Given the description of an element on the screen output the (x, y) to click on. 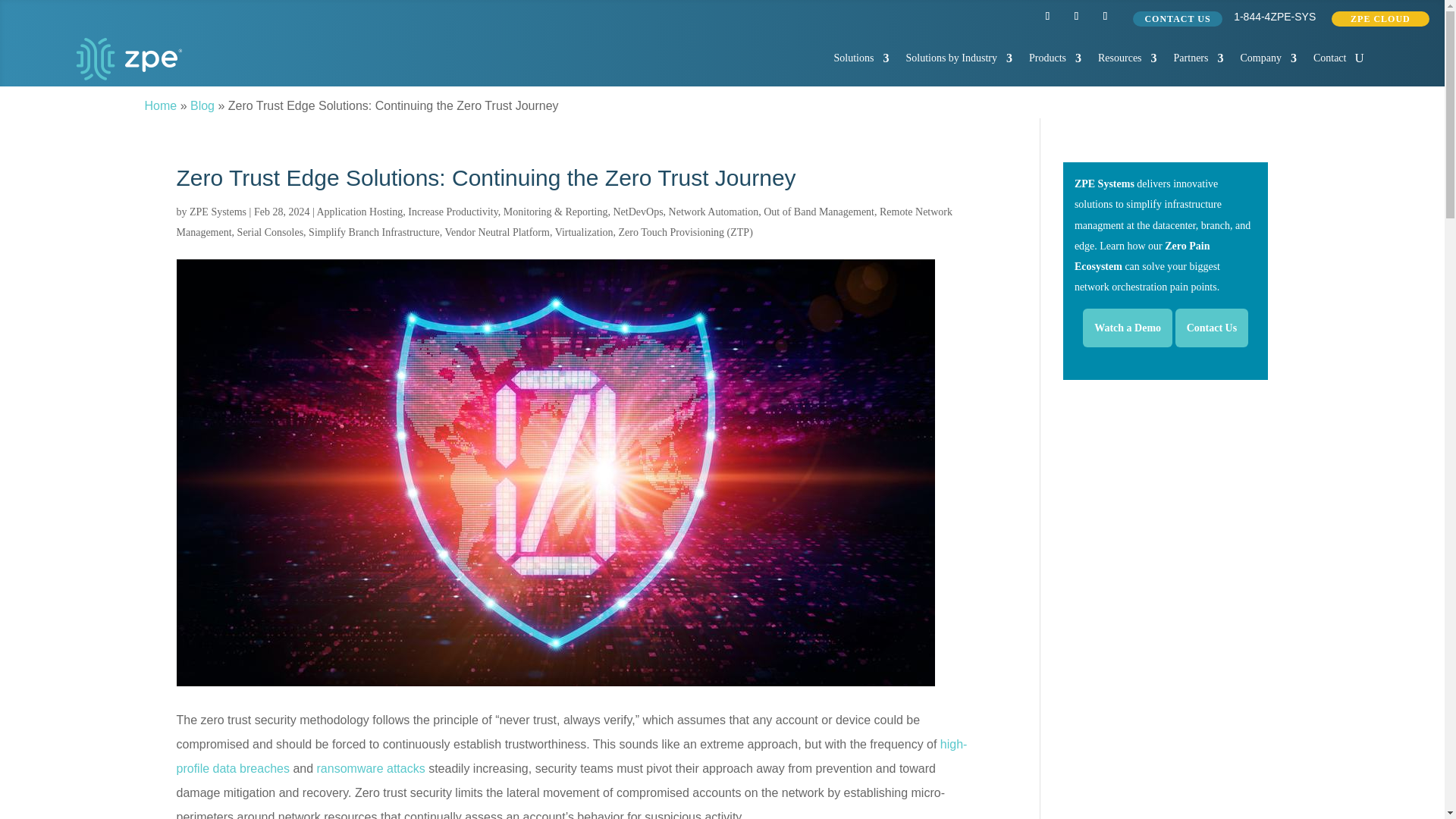
Follow on LinkedIn (1046, 15)
Follow on X (1075, 15)
Solutions (861, 57)
Follow on Facebook (1104, 15)
ZPE CLOUD (1380, 18)
CONTACT US (1176, 18)
Posts by ZPE Systems (217, 211)
